Given the description of an element on the screen output the (x, y) to click on. 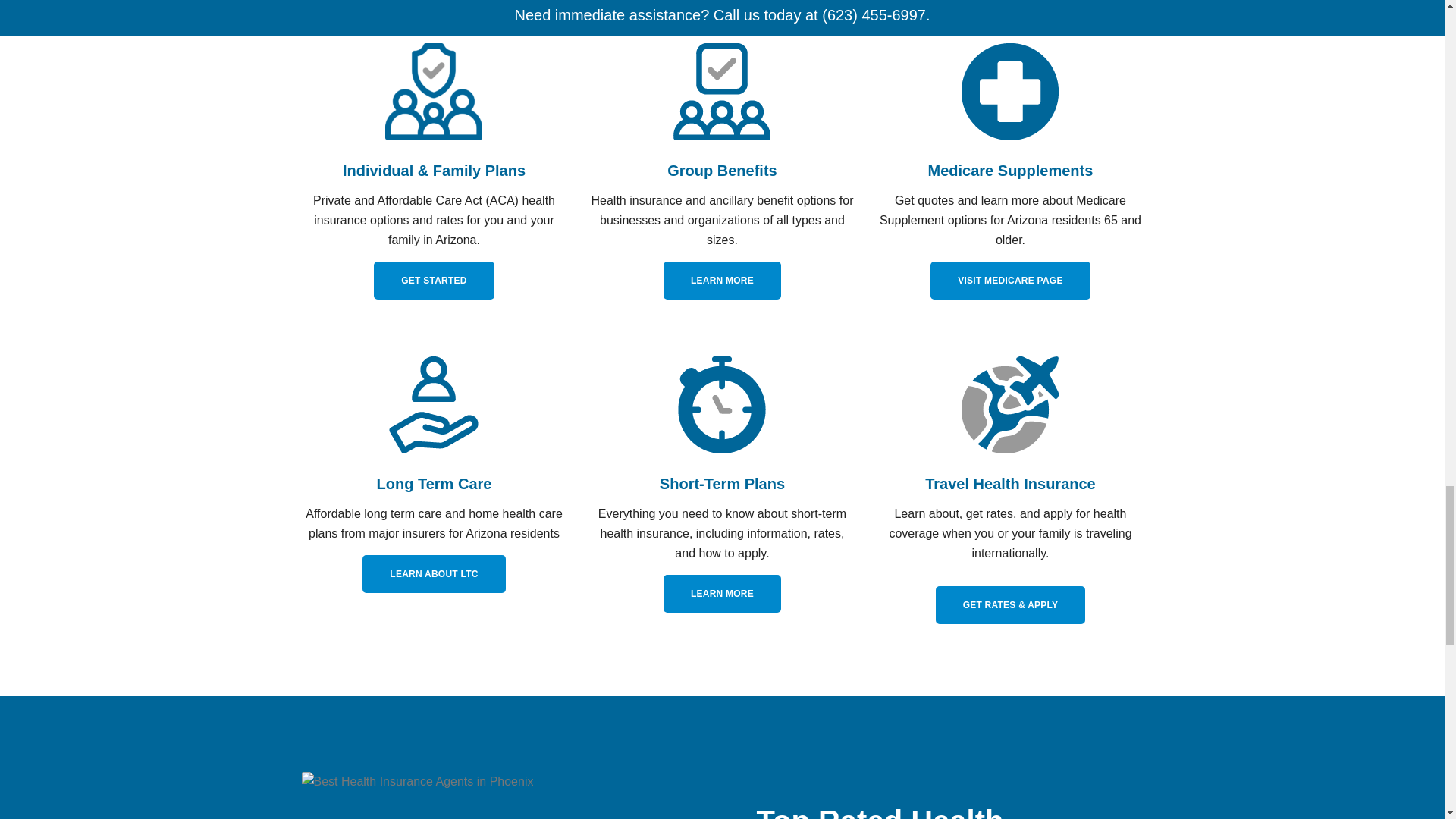
employee-icon (721, 91)
short-term-health-icon (721, 404)
LEARN MORE (721, 280)
long-term-care-icon (433, 404)
VISIT MEDICARE PAGE (1009, 280)
Learn More (721, 280)
LEARN MORE (721, 593)
Learn More (721, 593)
Visit Medicare Page (1009, 280)
GET STARTED (433, 280)
family-icon (433, 91)
LEARN ABOUT LTC (433, 573)
Get Started (433, 280)
Learn about LTC (433, 573)
